Given the description of an element on the screen output the (x, y) to click on. 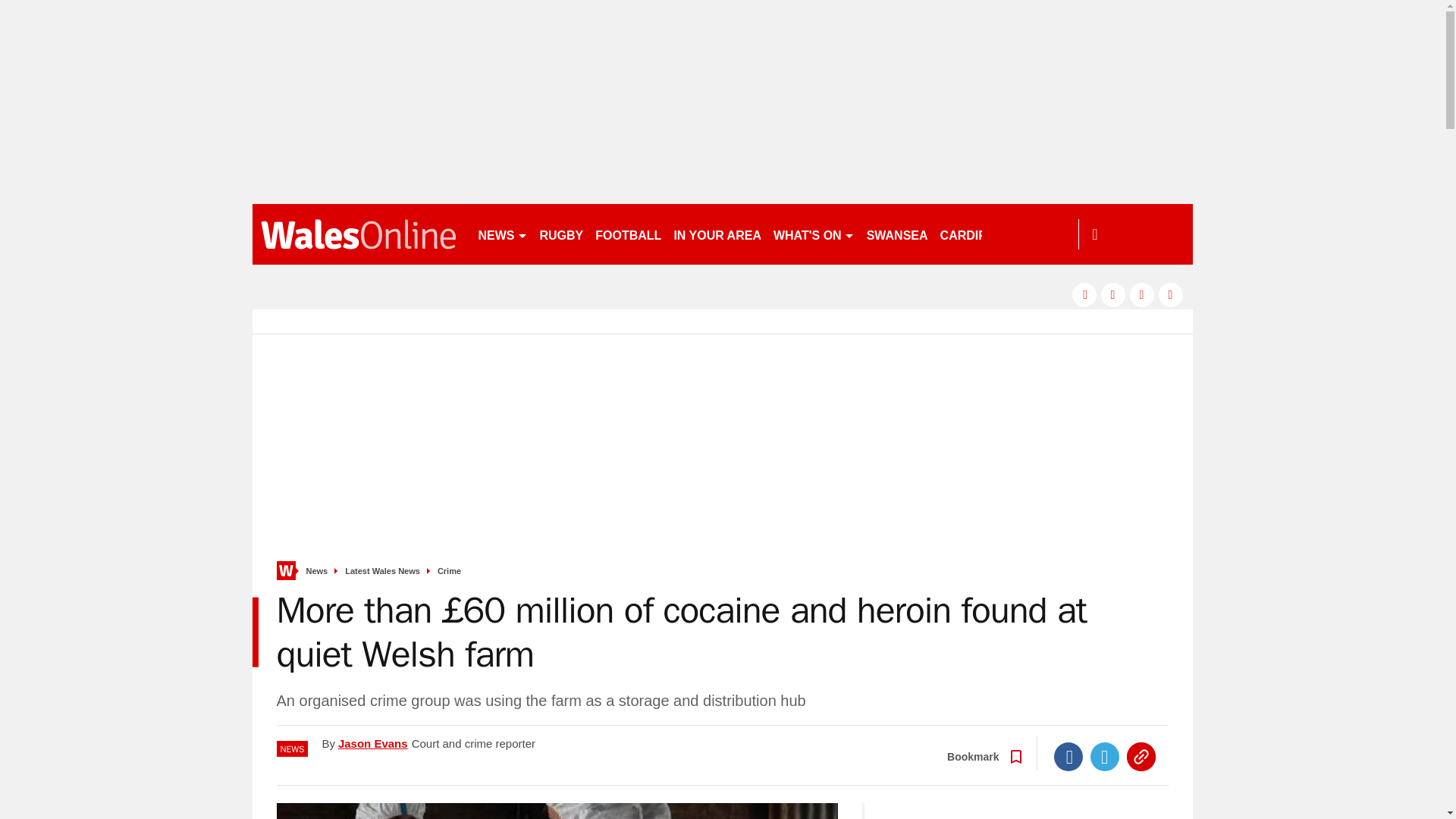
pinterest (1141, 294)
Facebook (1068, 756)
WHAT'S ON (813, 233)
SWANSEA (897, 233)
instagram (1170, 294)
FOOTBALL (627, 233)
walesonline (357, 233)
RUGBY (561, 233)
twitter (1112, 294)
NEWS (501, 233)
